Given the description of an element on the screen output the (x, y) to click on. 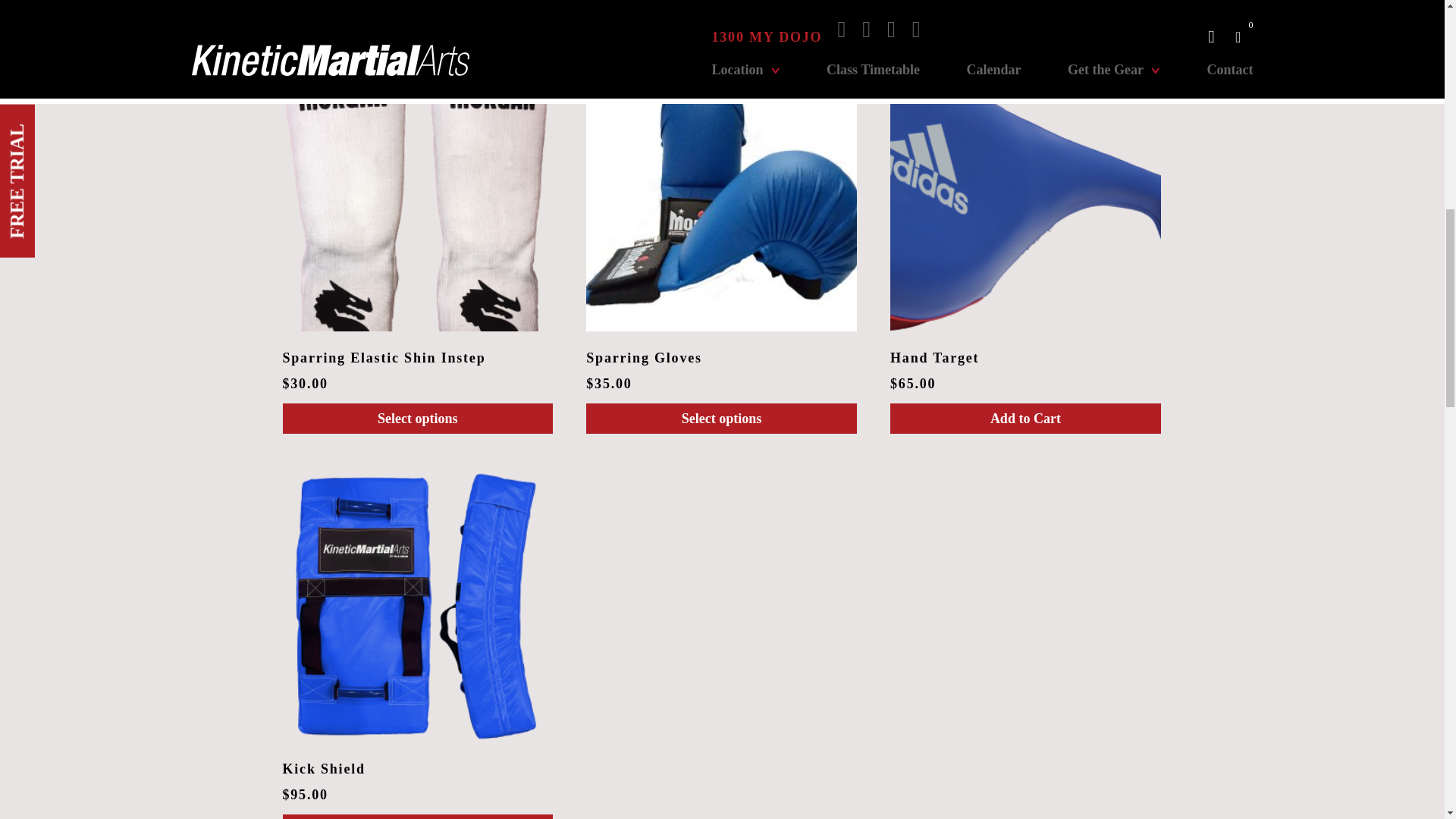
Select options (1024, 11)
Add to Cart (417, 11)
Add to Cart (721, 11)
